Given the description of an element on the screen output the (x, y) to click on. 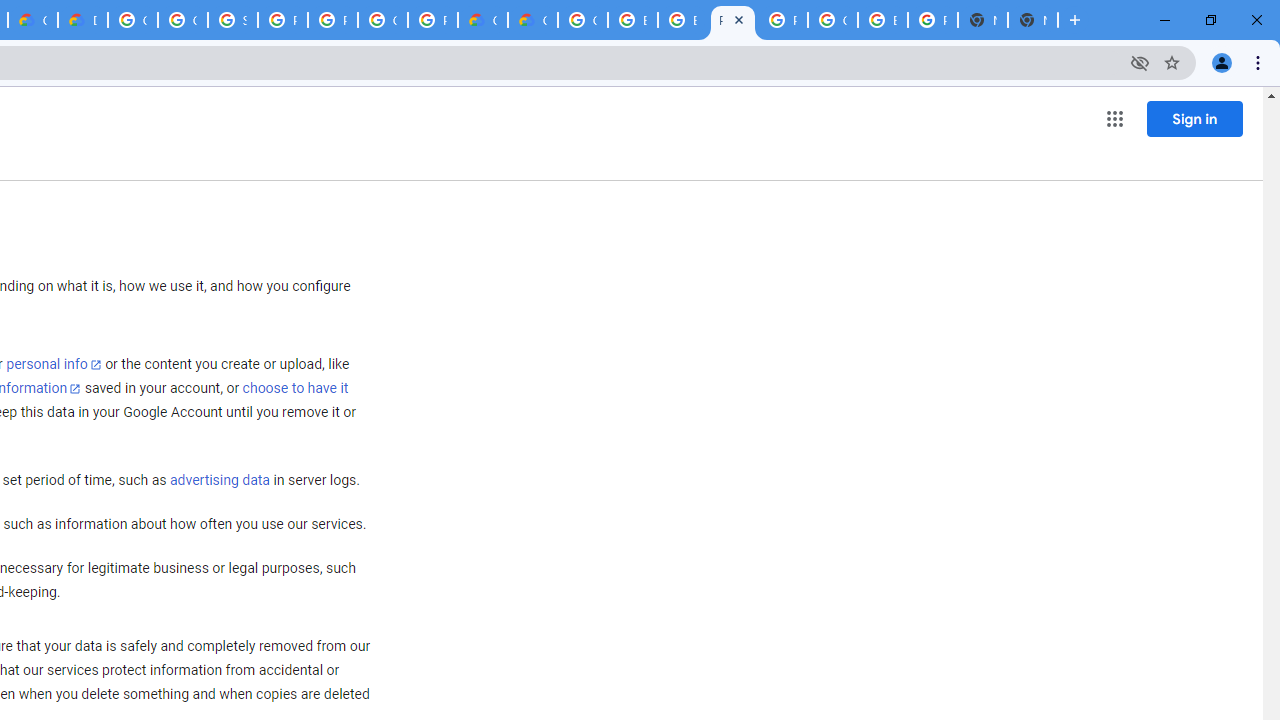
New Tab (1032, 20)
Browse Chrome as a guest - Computer - Google Chrome Help (632, 20)
Google Cloud Estimate Summary (533, 20)
Google Cloud Platform (832, 20)
